Given the description of an element on the screen output the (x, y) to click on. 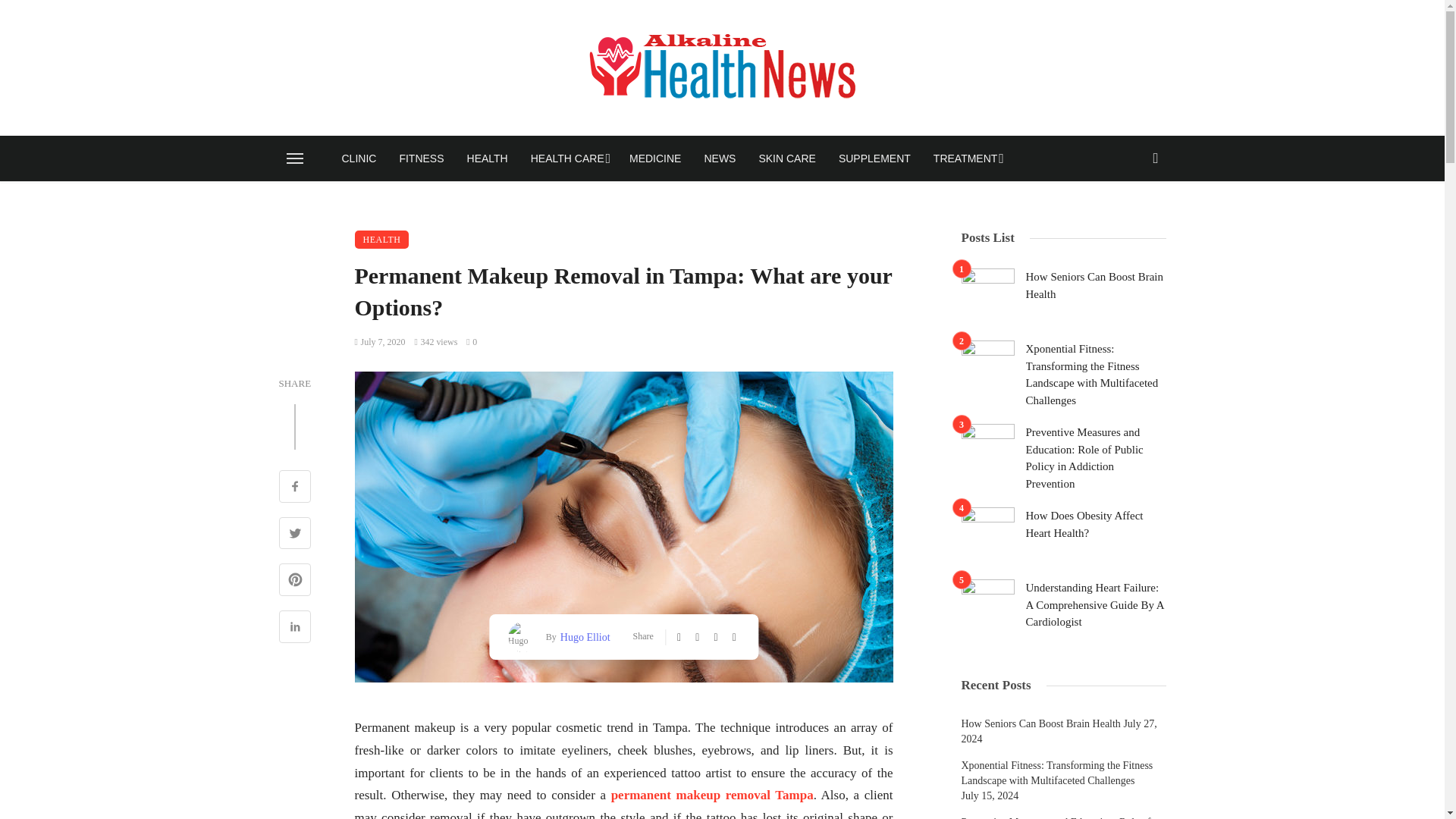
Posts by Hugo Elliot (583, 637)
Share on Facebook (295, 488)
July 7, 2020 at 6:49 am (380, 341)
TREATMENT (966, 157)
HEALTH (487, 157)
NEWS (719, 157)
SUPPLEMENT (874, 157)
Hugo Elliot (583, 637)
SKIN CARE (786, 157)
MEDICINE (655, 157)
